Given the description of an element on the screen output the (x, y) to click on. 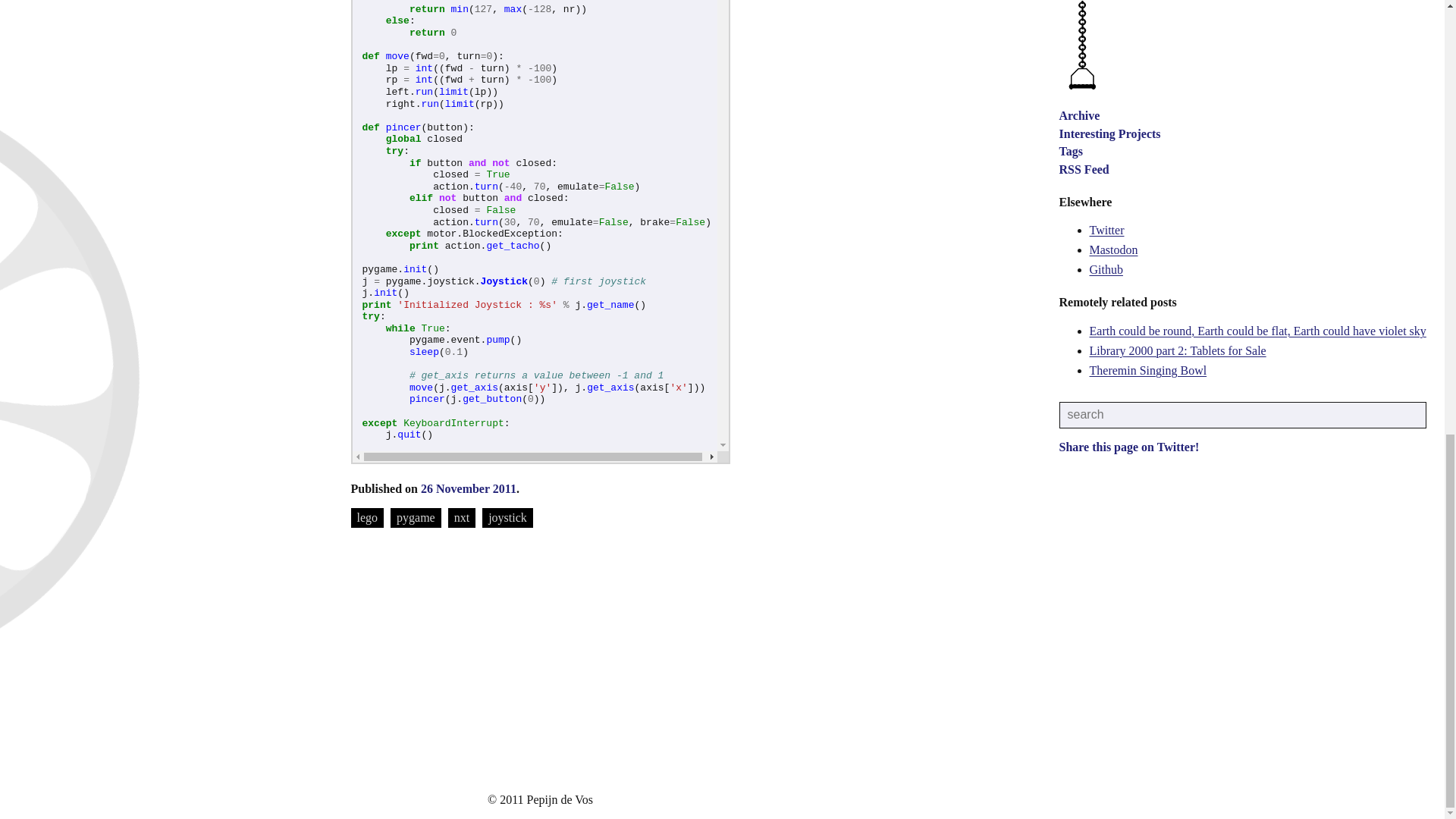
26 November 2011 (468, 488)
nxt (462, 517)
pygame (415, 517)
joystick (506, 517)
lego (367, 517)
